Given the description of an element on the screen output the (x, y) to click on. 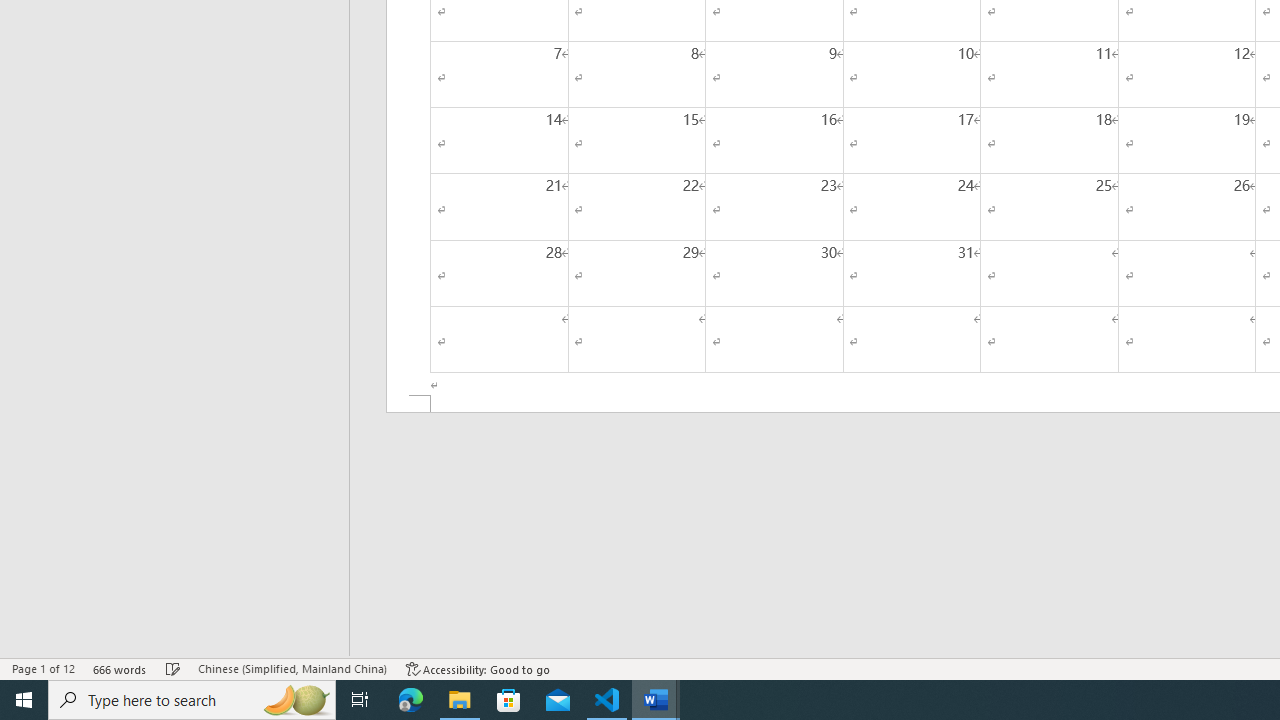
Task View (359, 699)
File Explorer - 1 running window (460, 699)
Word - 2 running windows (656, 699)
Word Count 666 words (119, 668)
Page Number Page 1 of 12 (43, 668)
Language Chinese (Simplified, Mainland China) (292, 668)
Type here to search (191, 699)
Search highlights icon opens search home window (295, 699)
Visual Studio Code - 1 running window (607, 699)
Microsoft Store (509, 699)
Microsoft Edge (411, 699)
Start (24, 699)
Spelling and Grammar Check Checking (173, 668)
